Given the description of an element on the screen output the (x, y) to click on. 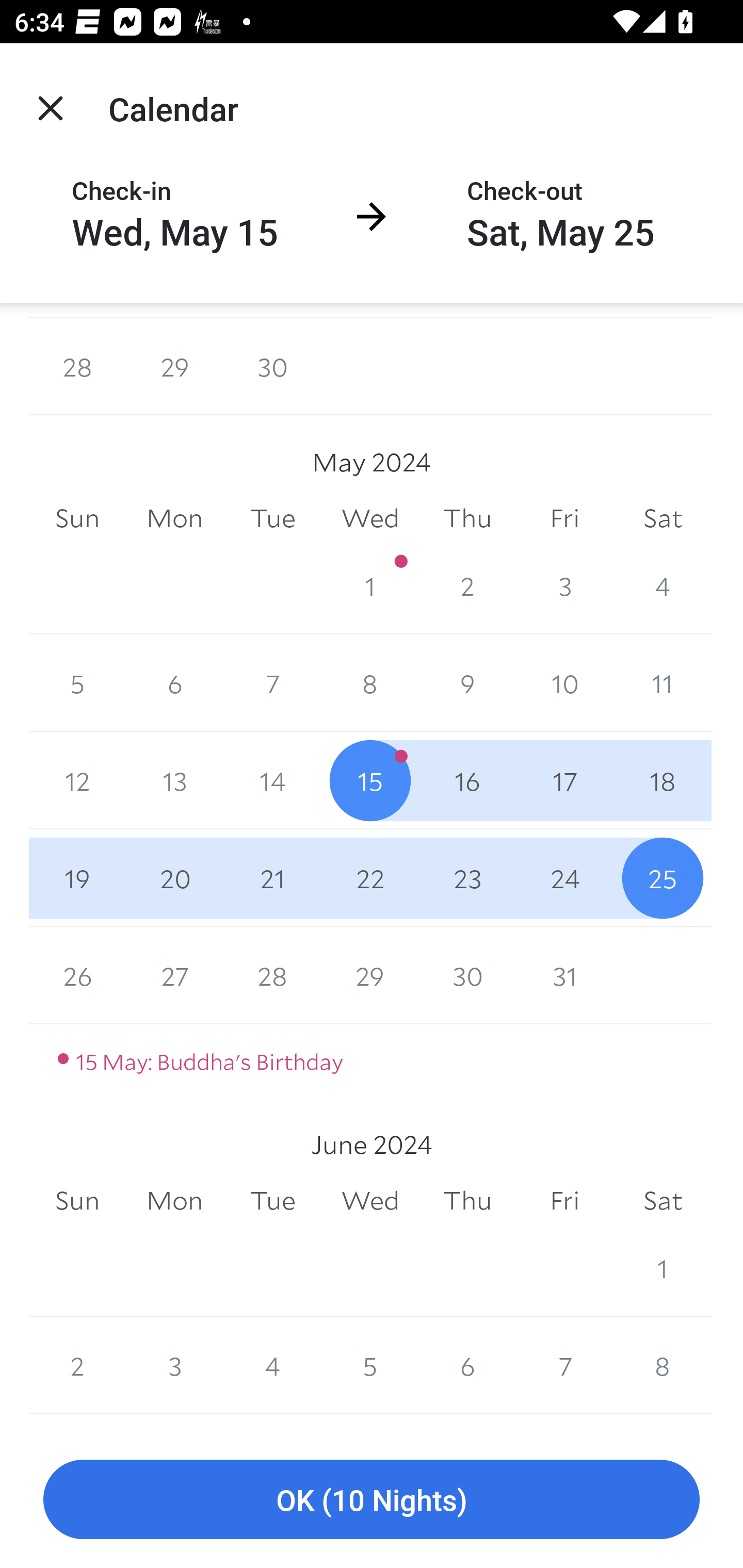
28 28 April 2024 (77, 366)
29 29 April 2024 (174, 366)
30 30 April 2024 (272, 366)
Sun (77, 518)
Mon (174, 518)
Tue (272, 518)
Wed (370, 518)
Thu (467, 518)
Fri (564, 518)
Sat (662, 518)
1 1 May 2024 (370, 585)
2 2 May 2024 (467, 585)
3 3 May 2024 (564, 585)
4 4 May 2024 (662, 585)
5 5 May 2024 (77, 683)
6 6 May 2024 (174, 683)
7 7 May 2024 (272, 683)
8 8 May 2024 (370, 683)
9 9 May 2024 (467, 683)
10 10 May 2024 (564, 683)
11 11 May 2024 (662, 683)
12 12 May 2024 (77, 780)
13 13 May 2024 (174, 780)
14 14 May 2024 (272, 780)
15 15 May 2024 (370, 780)
16 16 May 2024 (467, 780)
17 17 May 2024 (564, 780)
18 18 May 2024 (662, 780)
19 19 May 2024 (77, 877)
20 20 May 2024 (174, 877)
21 21 May 2024 (272, 877)
22 22 May 2024 (370, 877)
23 23 May 2024 (467, 877)
24 24 May 2024 (564, 877)
25 25 May 2024 (662, 877)
26 26 May 2024 (77, 974)
27 27 May 2024 (174, 974)
28 28 May 2024 (272, 974)
29 29 May 2024 (370, 974)
30 30 May 2024 (467, 974)
31 31 May 2024 (564, 974)
Sun (77, 1200)
Mon (174, 1200)
Tue (272, 1200)
Wed (370, 1200)
Thu (467, 1200)
Fri (564, 1200)
Sat (662, 1200)
1 1 June 2024 (662, 1268)
